Given the description of an element on the screen output the (x, y) to click on. 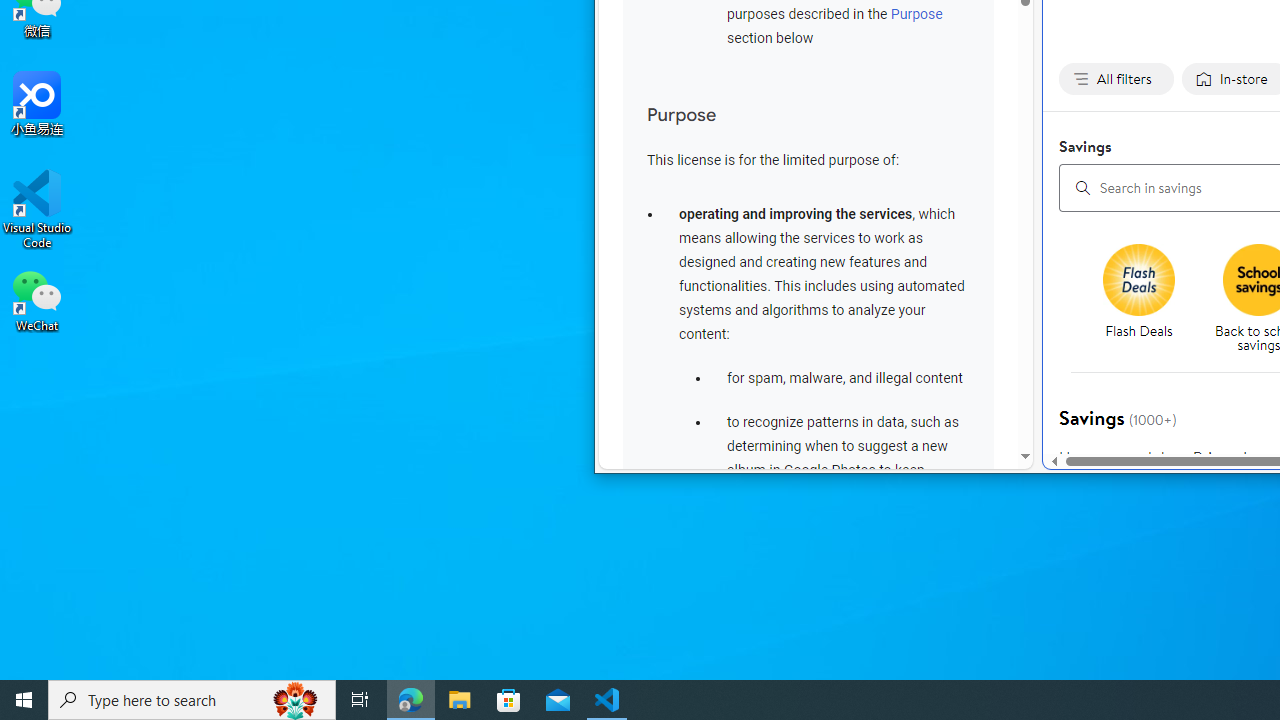
WeChat (37, 299)
Flash deals Flash Deals (1138, 293)
Start (24, 699)
Search highlights icon opens search home window (295, 699)
Task View (359, 699)
Visual Studio Code (37, 209)
Flash deals (1139, 280)
Visual Studio Code - 1 running window (607, 699)
Flash Deals (1146, 300)
Microsoft Store (509, 699)
Type here to search (191, 699)
Microsoft Edge - 1 running window (411, 699)
